Given the description of an element on the screen output the (x, y) to click on. 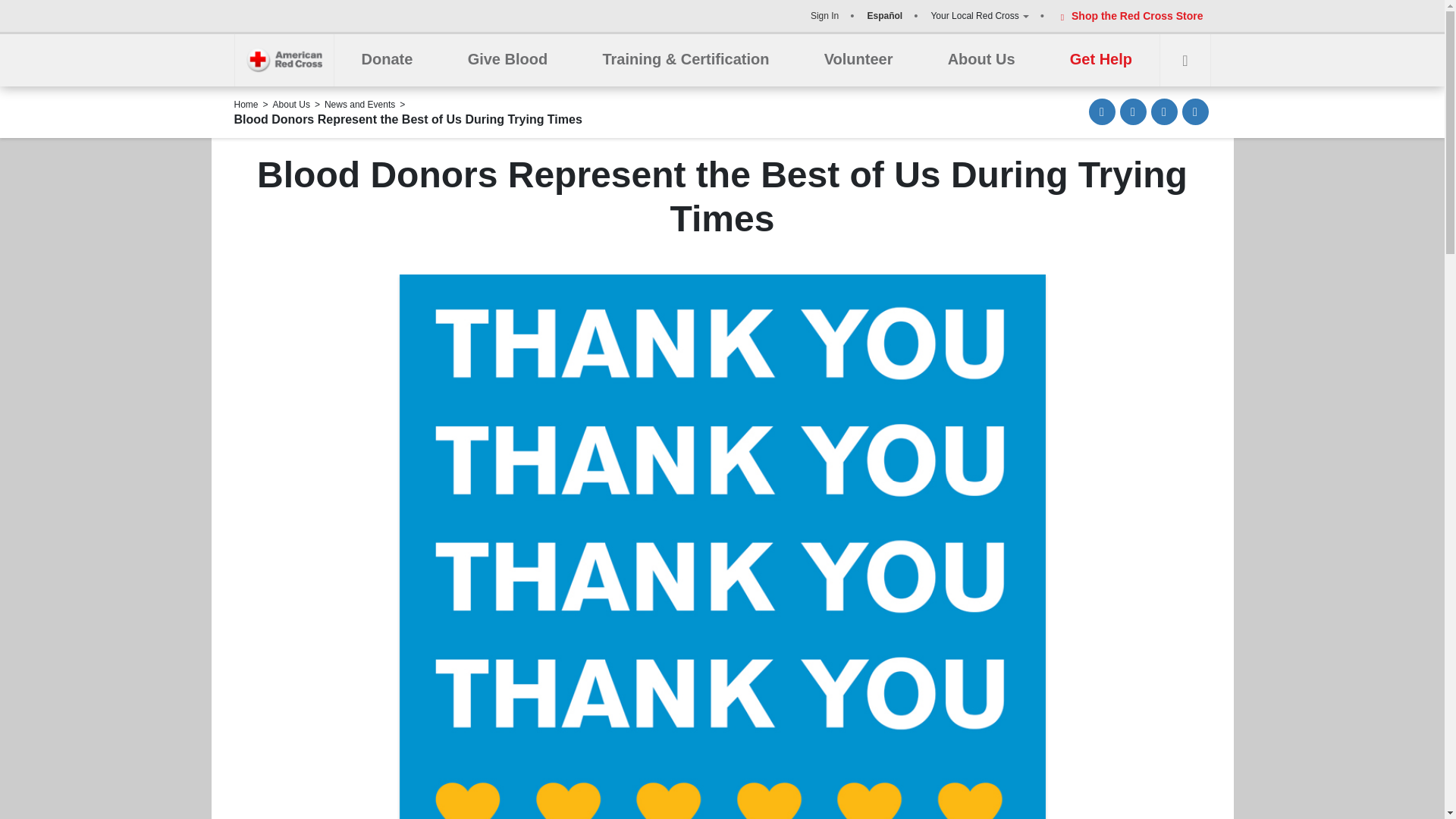
Donate (387, 59)
Shop the Red Cross Store (1128, 15)
Tweet (1164, 111)
Your Local Red Cross (977, 15)
Share via Email (1102, 111)
Share on Facebook (1132, 111)
Other share options (1194, 111)
Sign In (823, 15)
